Given the description of an element on the screen output the (x, y) to click on. 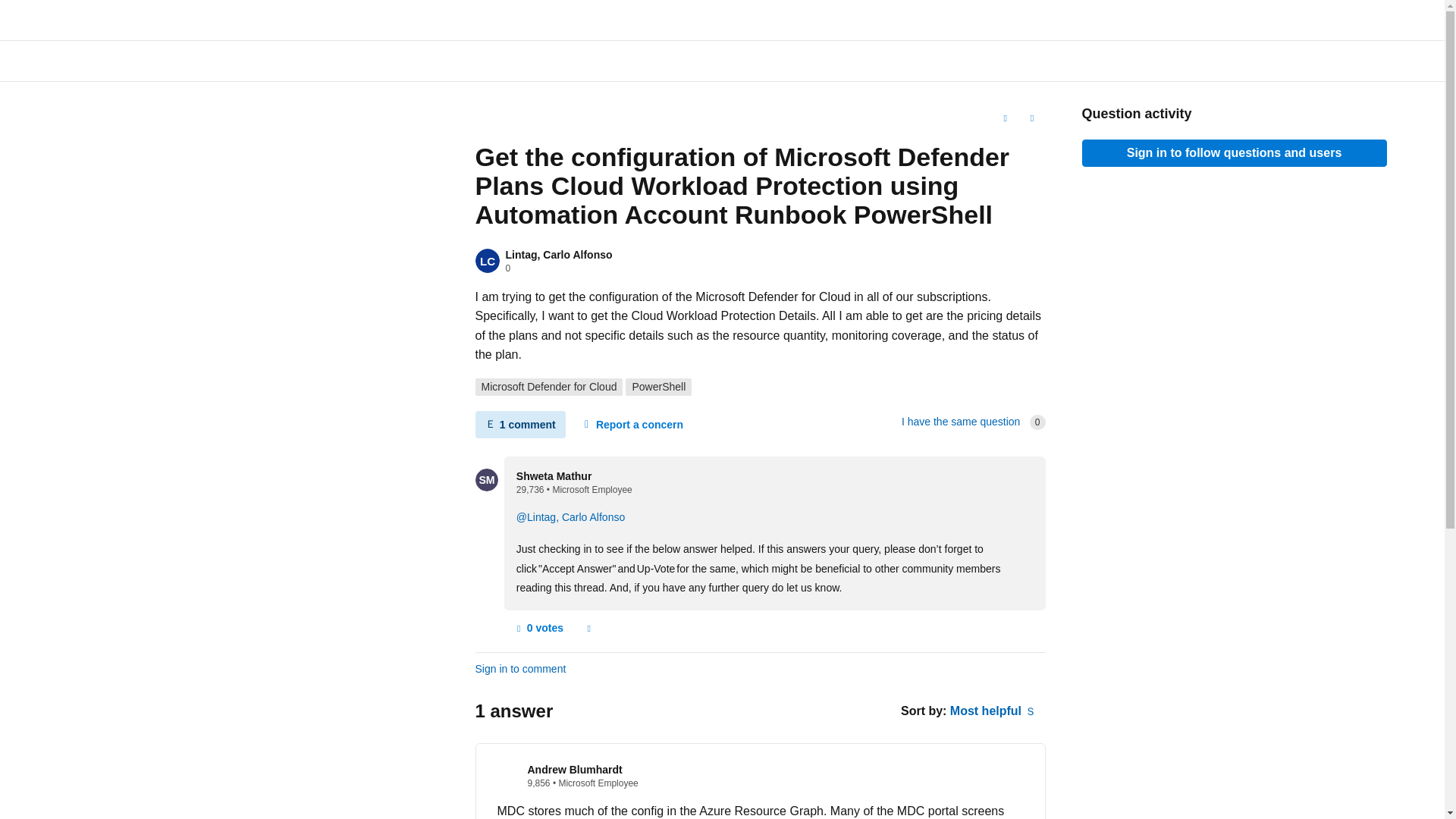
Report a concern (632, 424)
Report a concern (588, 628)
Lintag, Carlo Alfonso (558, 254)
Reputation points (530, 489)
Andrew Blumhardt (575, 769)
Add this question to a collection (1004, 118)
This comment is helpful (538, 628)
Shweta Mathur (554, 476)
Hide comments for this question (519, 424)
Report a concern (588, 628)
